Given the description of an element on the screen output the (x, y) to click on. 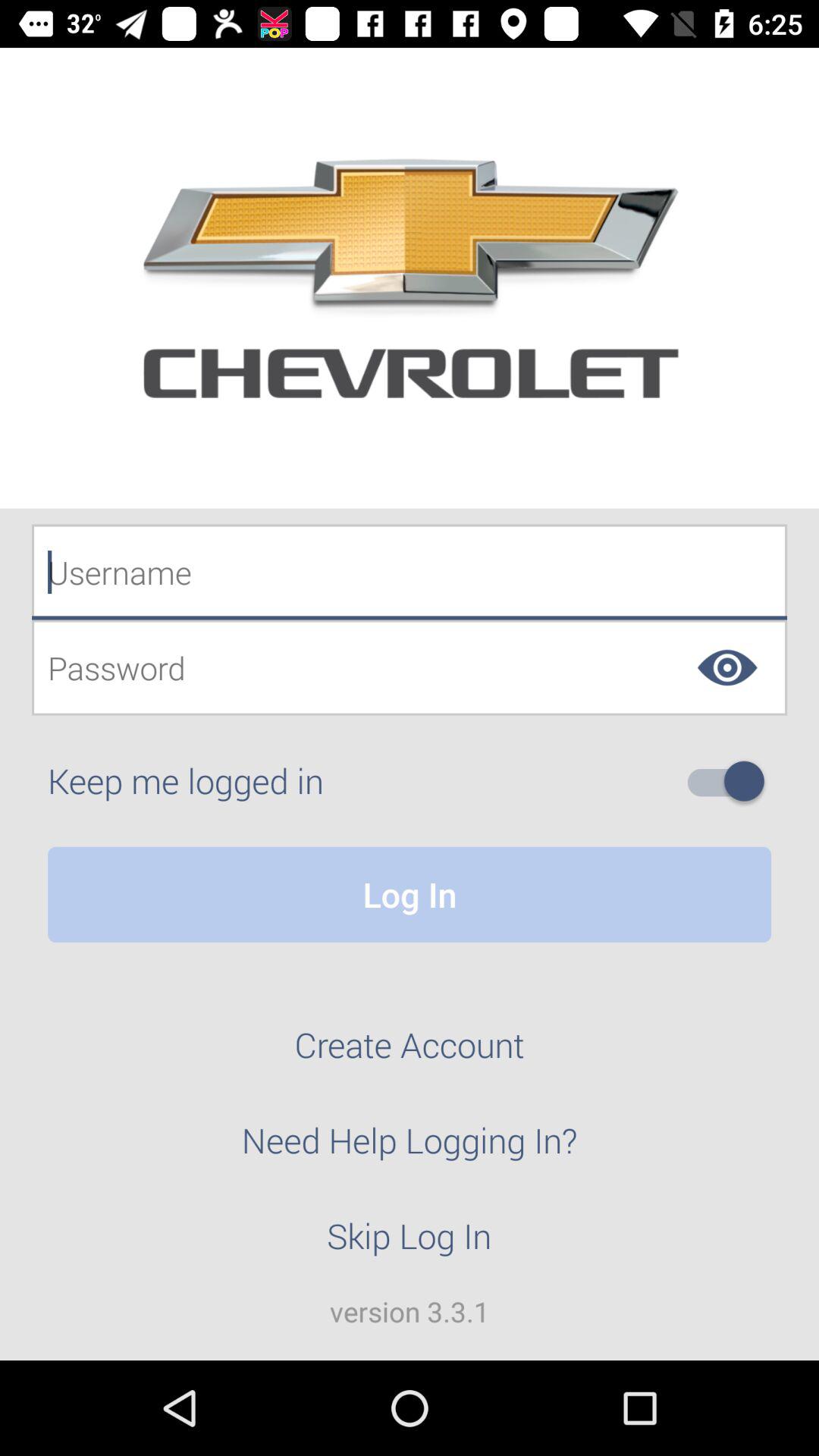
username field (409, 571)
